Given the description of an element on the screen output the (x, y) to click on. 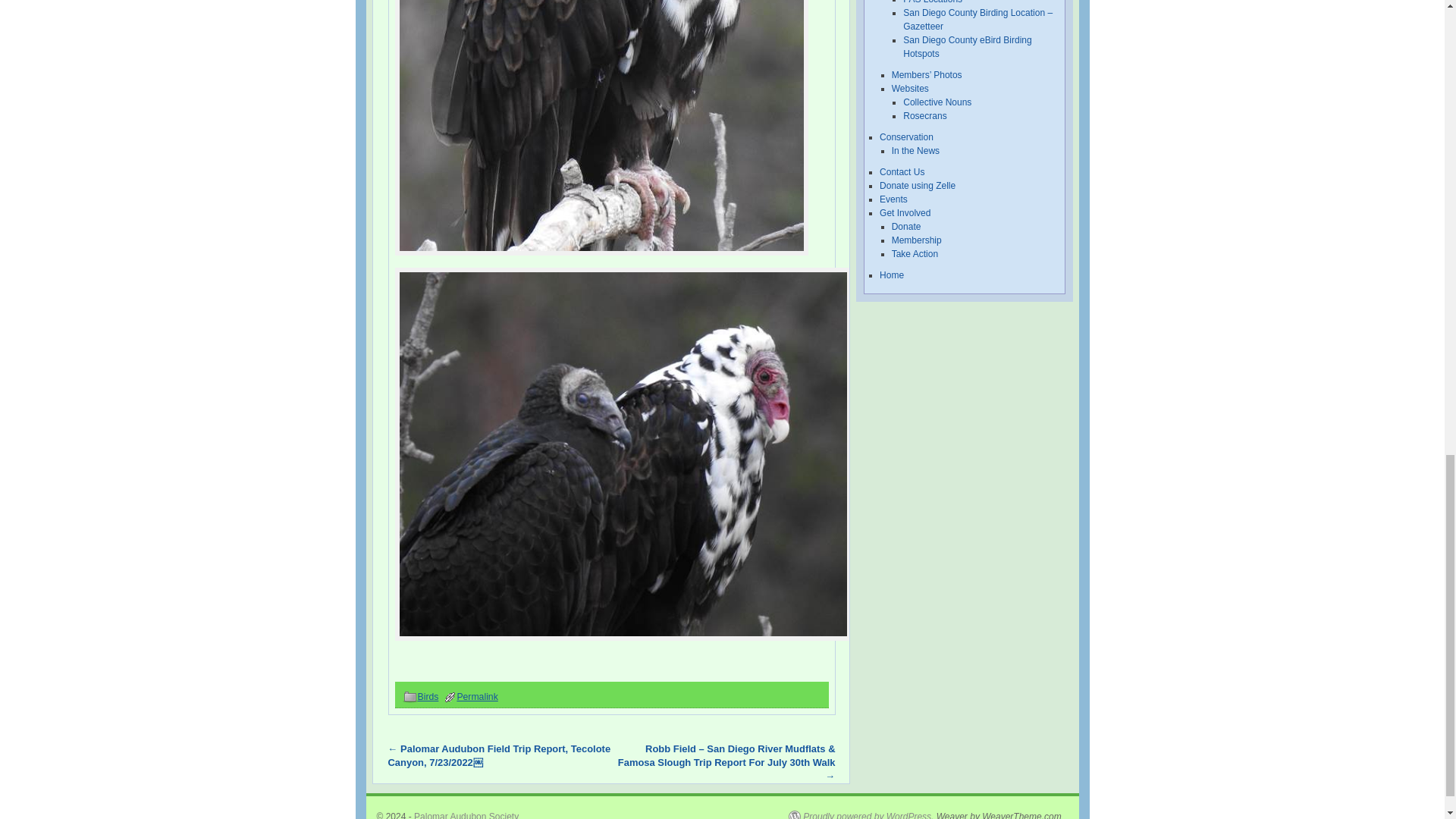
Birds (427, 696)
Permalink (477, 696)
Permalink to Partially Leucistic Turkey Vulture (477, 696)
